Given the description of an element on the screen output the (x, y) to click on. 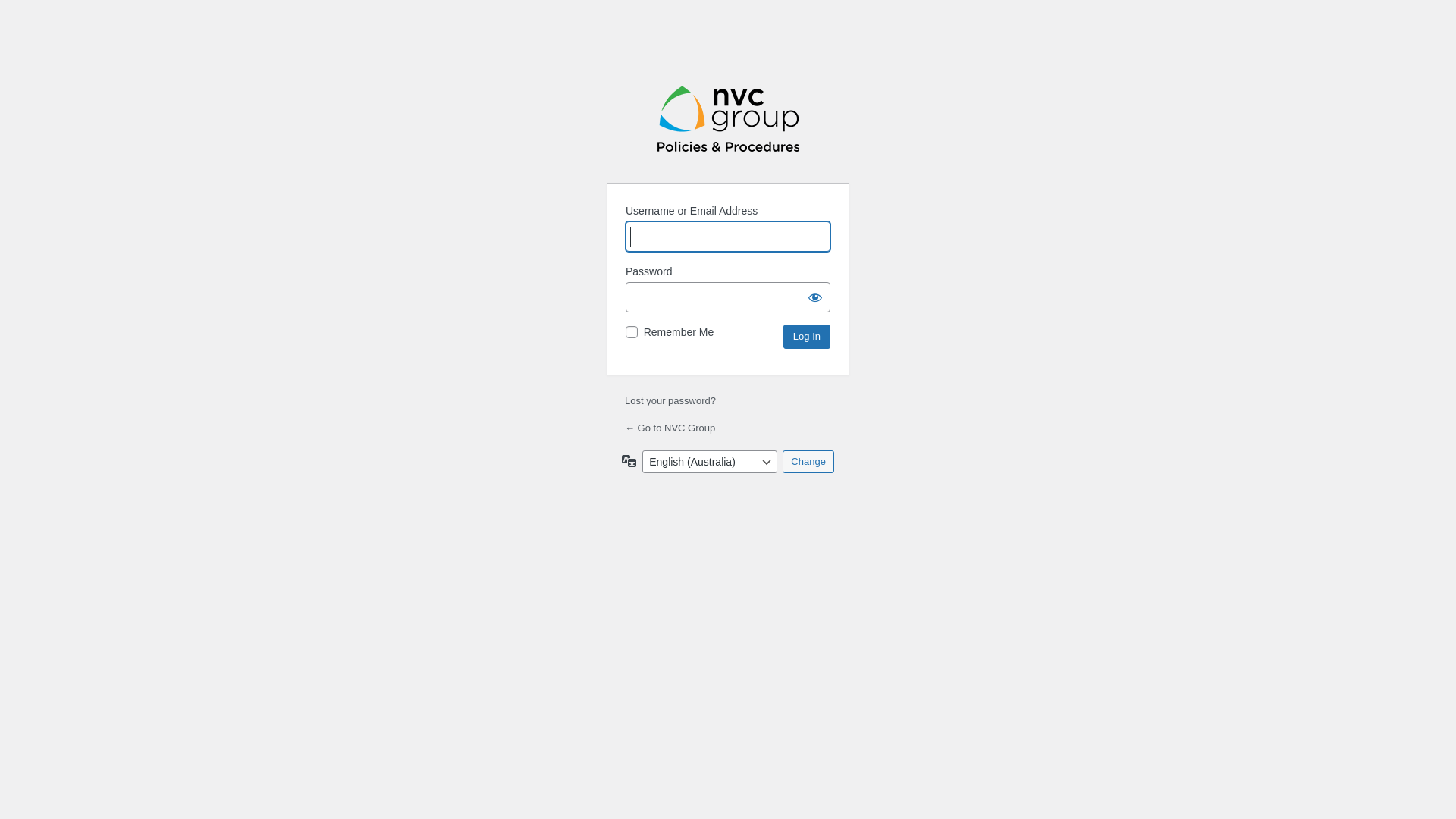
Log In Element type: text (806, 336)
Change Element type: text (808, 461)
Lost your password? Element type: text (669, 400)
Powered by WordPress Element type: text (727, 117)
